Given the description of an element on the screen output the (x, y) to click on. 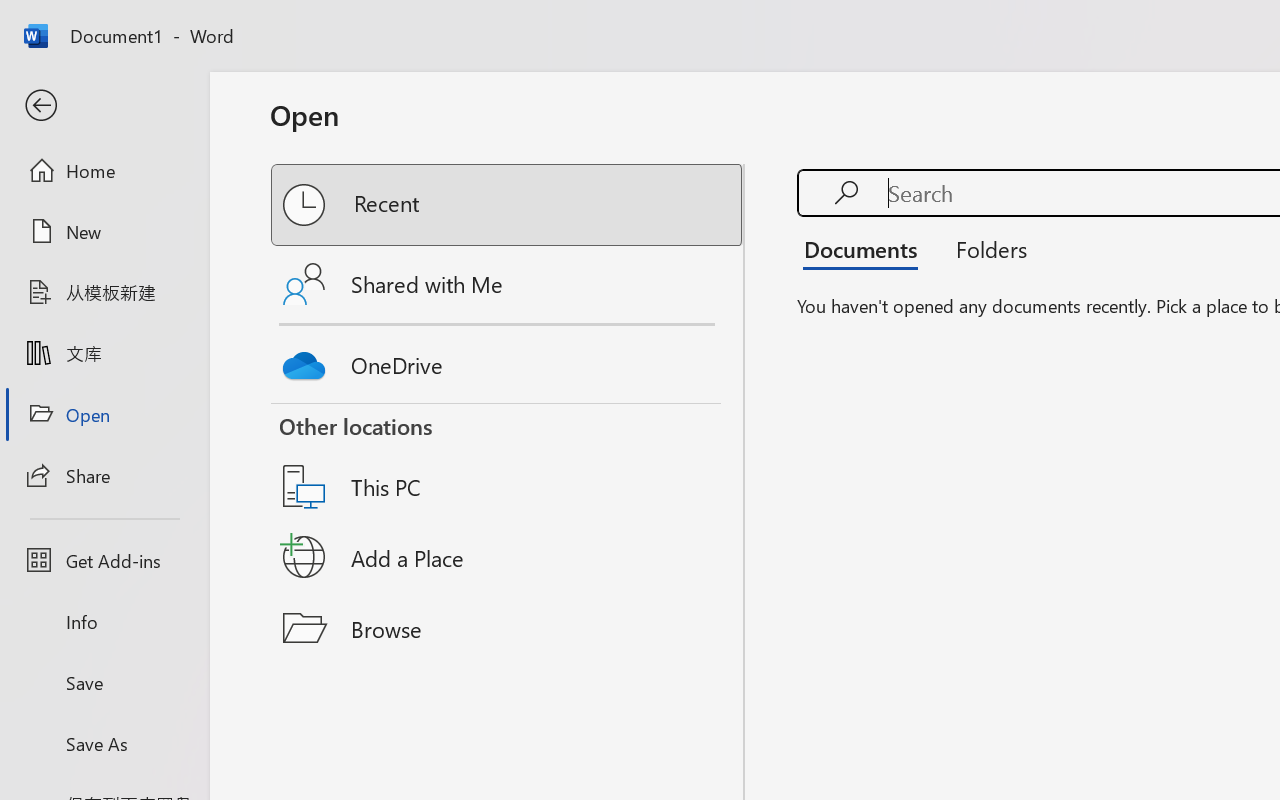
Folders (984, 248)
This PC (507, 461)
Add a Place (507, 557)
Get Add-ins (104, 560)
Browse (507, 627)
Save As (104, 743)
OneDrive (507, 359)
Documents (866, 248)
